Given the description of an element on the screen output the (x, y) to click on. 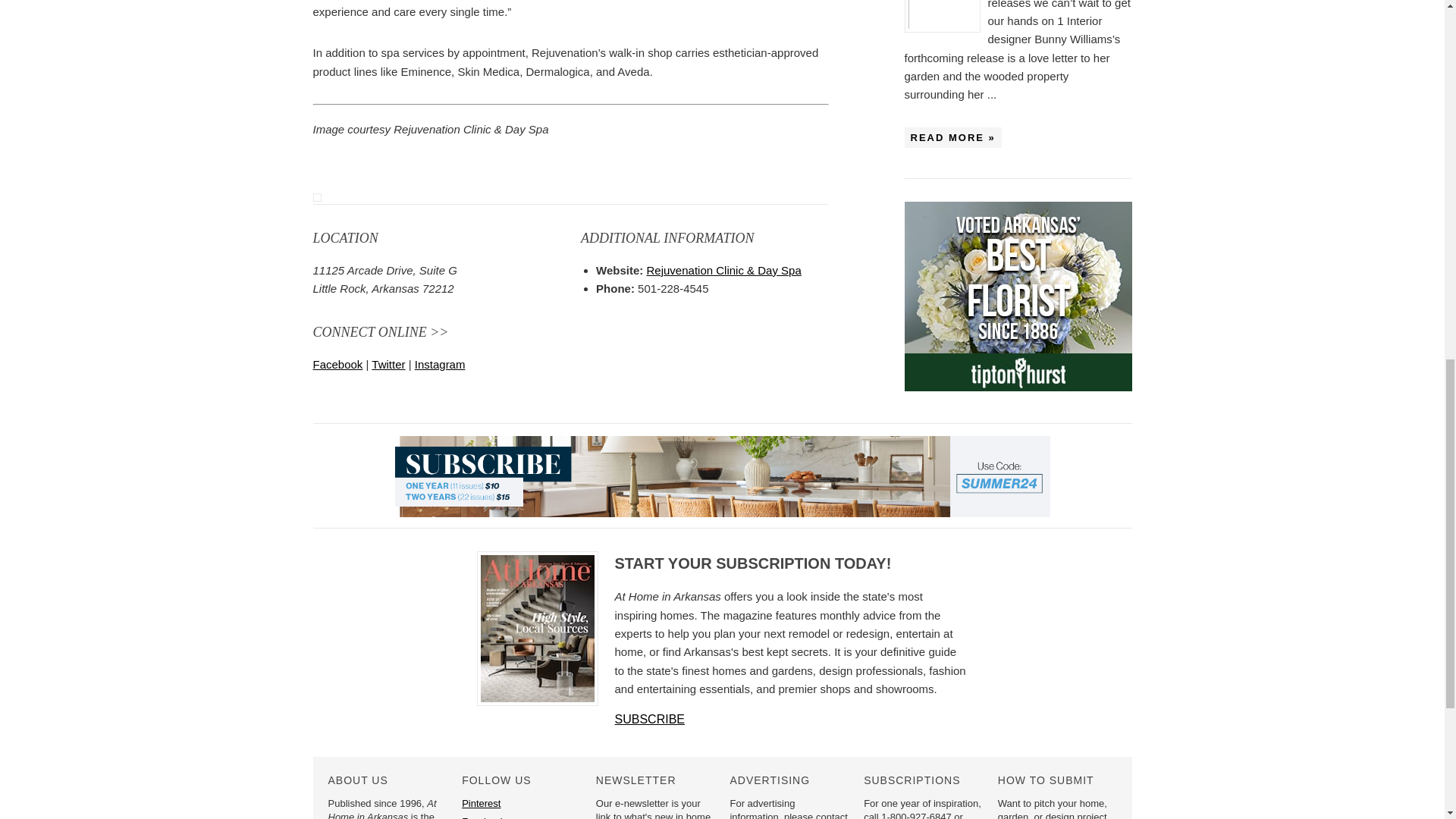
Required Reading (945, 16)
